Given the description of an element on the screen output the (x, y) to click on. 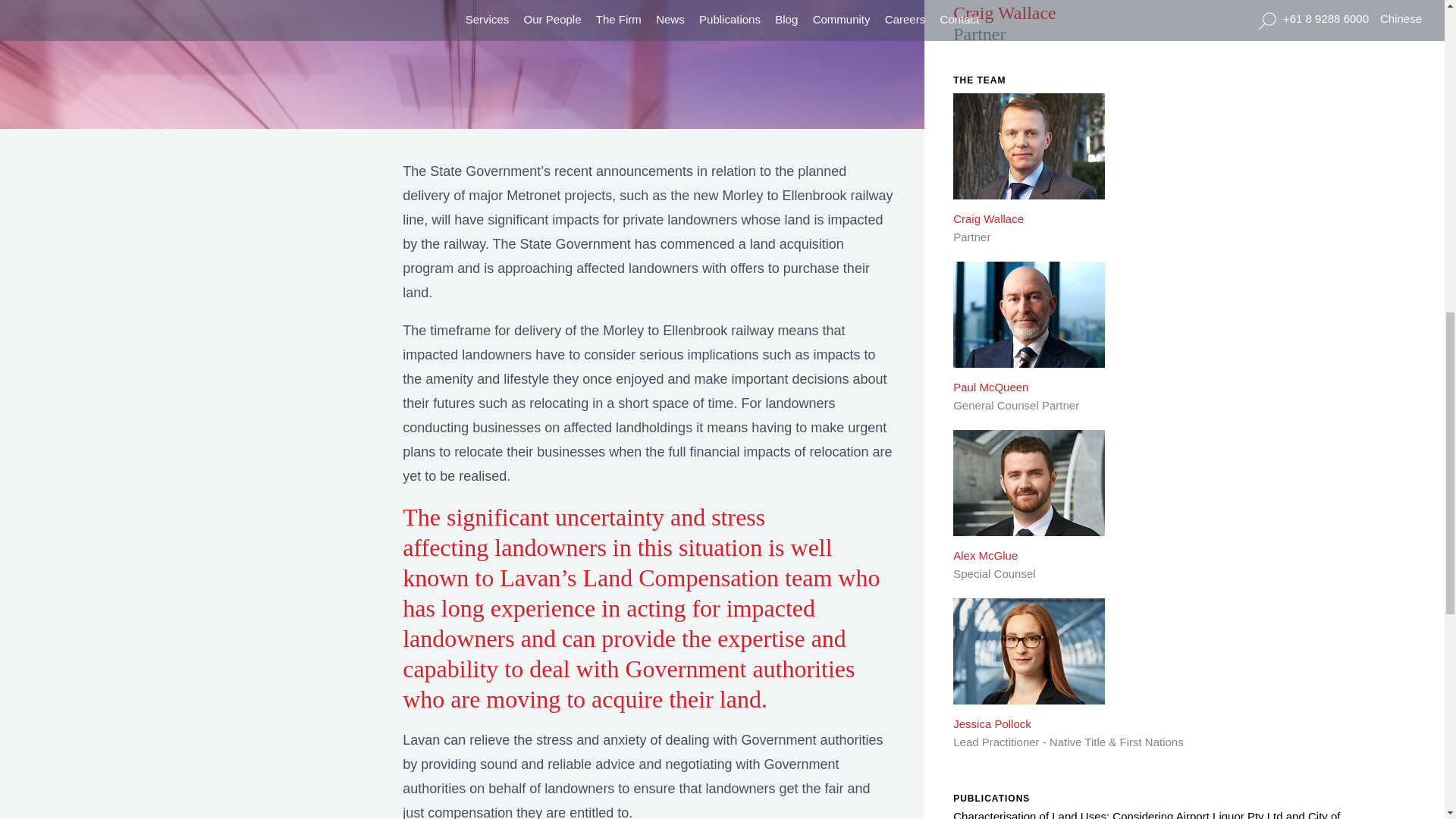
Craig Wallace (1029, 156)
AlexMcGlue2.jpg (1029, 493)
PaulMcQueen-new-2800.jpg (1029, 325)
JessicaPollock-JLP-2800x1800.jpg (1029, 661)
